Given the description of an element on the screen output the (x, y) to click on. 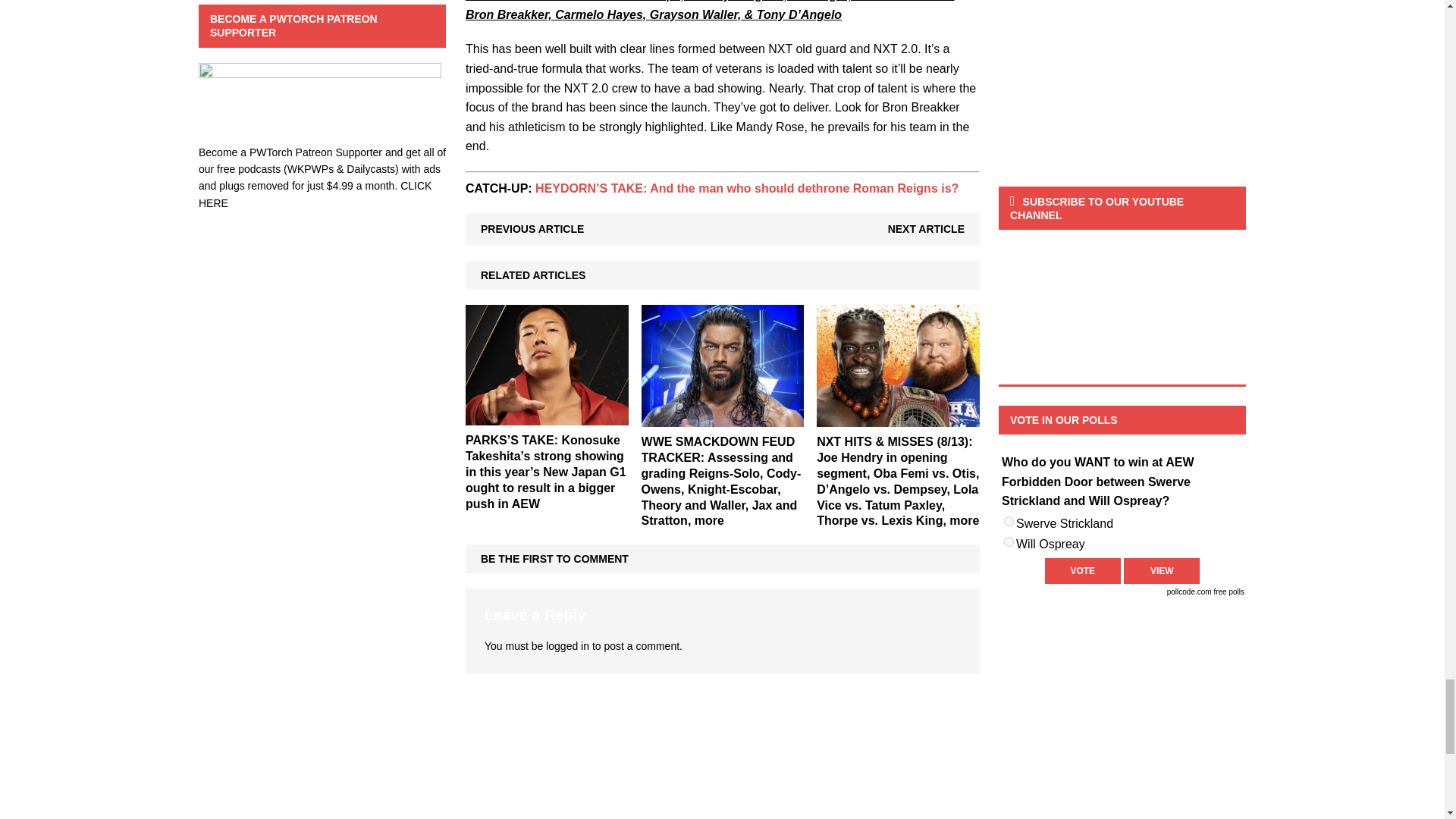
1 (1008, 521)
2 (1008, 542)
 View  (1161, 570)
 Vote  (1083, 570)
